Given the description of an element on the screen output the (x, y) to click on. 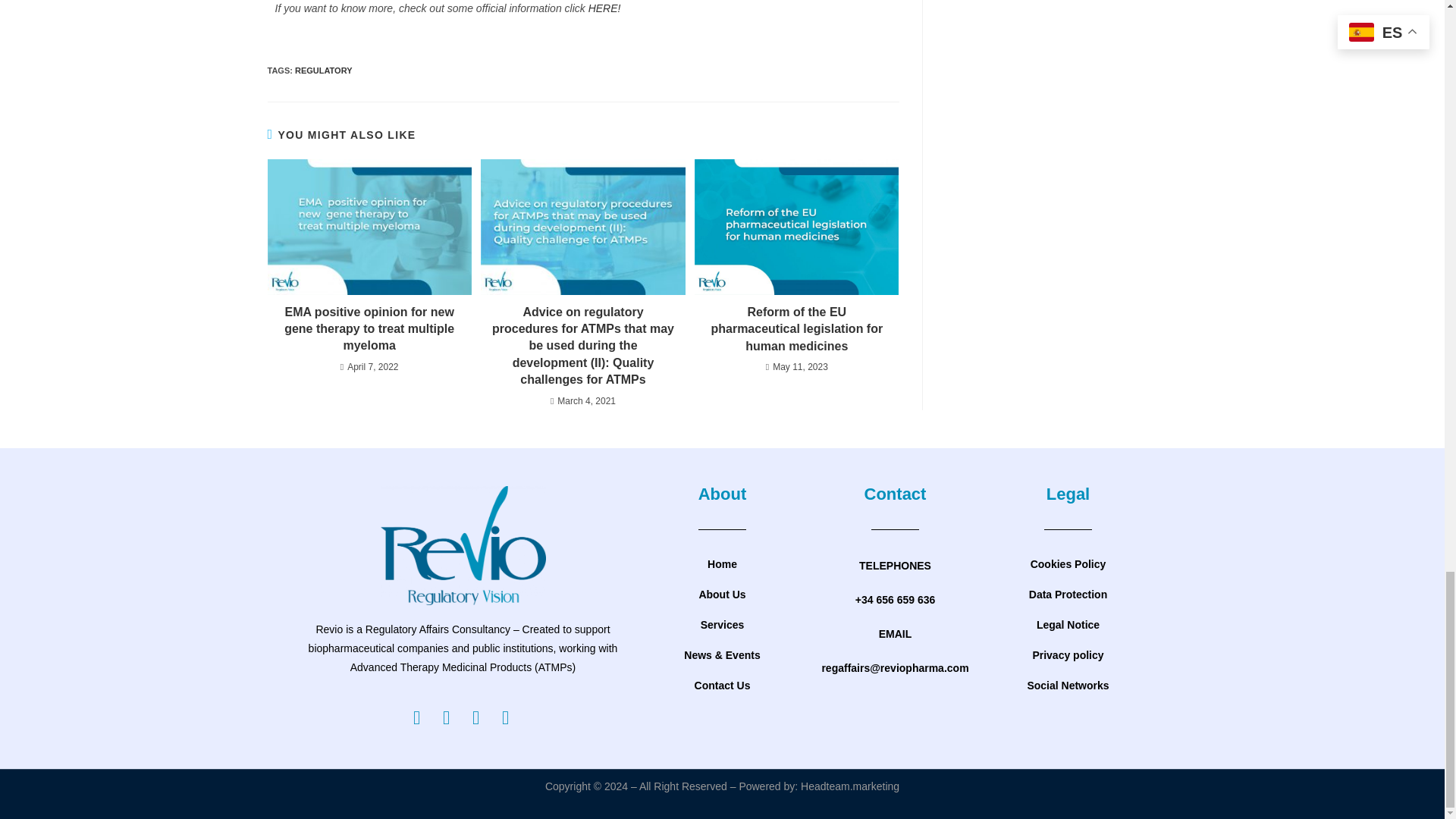
HERE! (604, 8)
REGULATORY (323, 70)
